Given the description of an element on the screen output the (x, y) to click on. 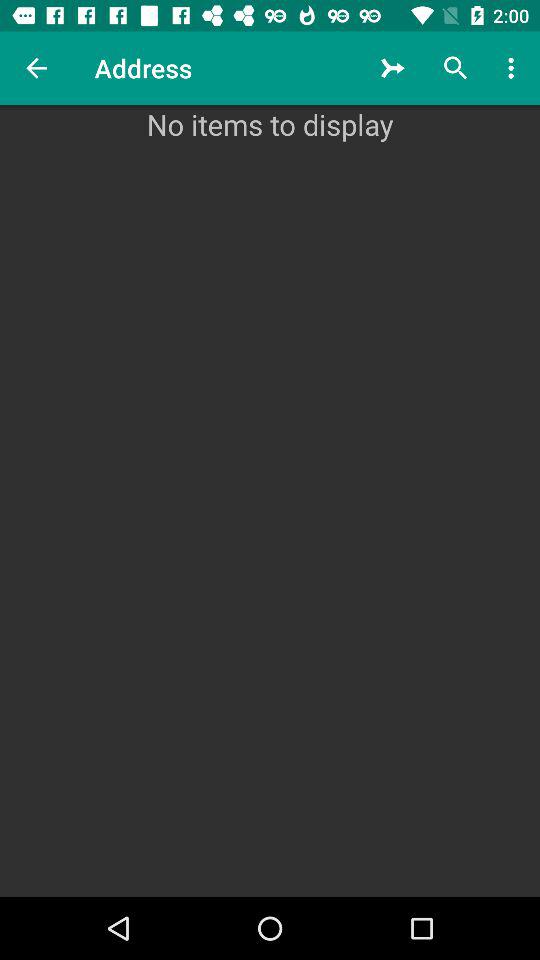
press the item above no items to item (392, 67)
